Given the description of an element on the screen output the (x, y) to click on. 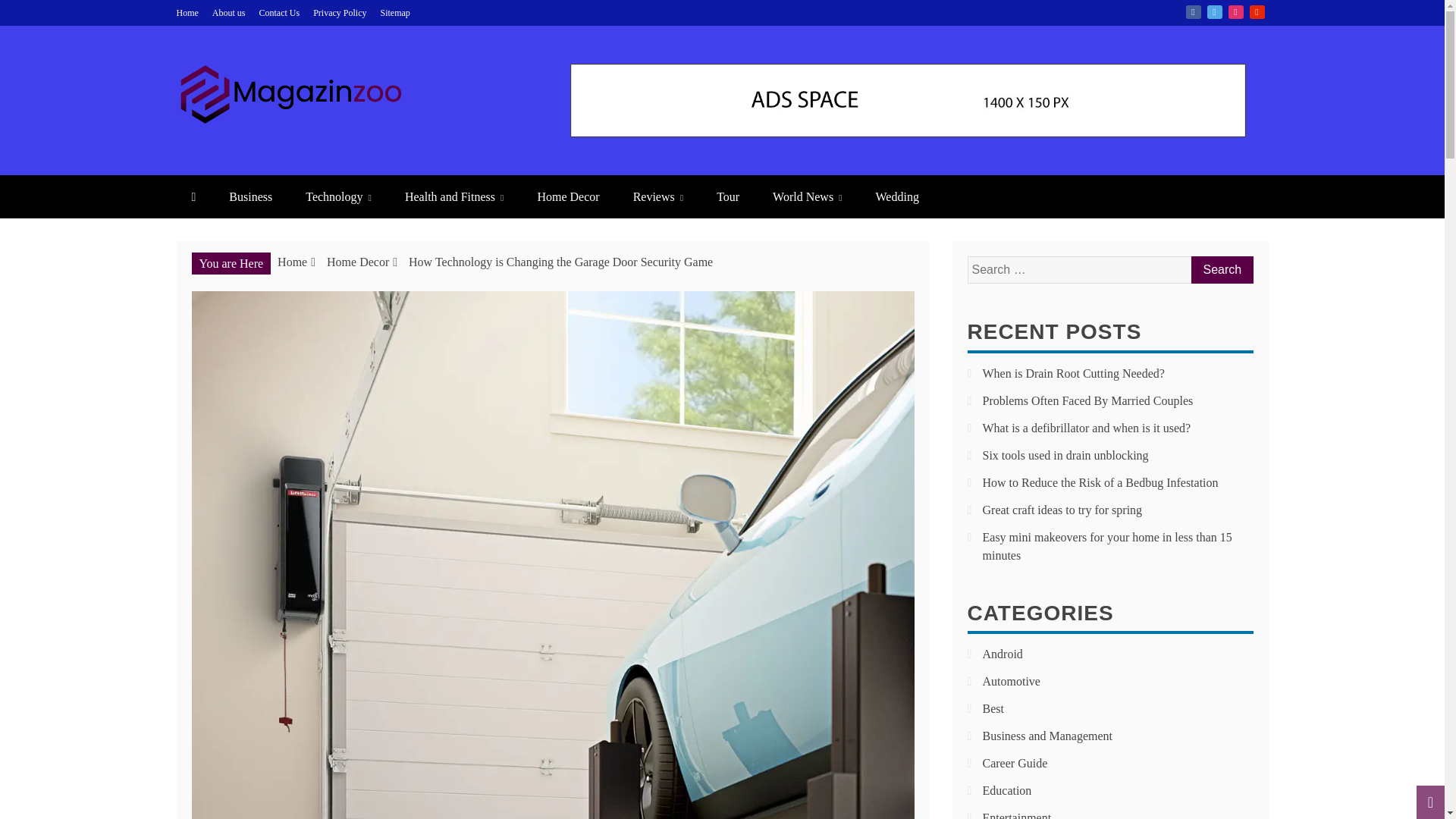
twitter (1215, 11)
MAGAZINE ZOO (328, 153)
Contact Us (279, 12)
Search (1221, 269)
Health and Fitness (454, 196)
Wedding (897, 196)
Search (1221, 269)
instagram (1235, 11)
Home Decor (567, 196)
Technology (338, 196)
Sitemap (395, 12)
World News (807, 196)
Tour (727, 196)
Business (250, 196)
facebook (1193, 11)
